Given the description of an element on the screen output the (x, y) to click on. 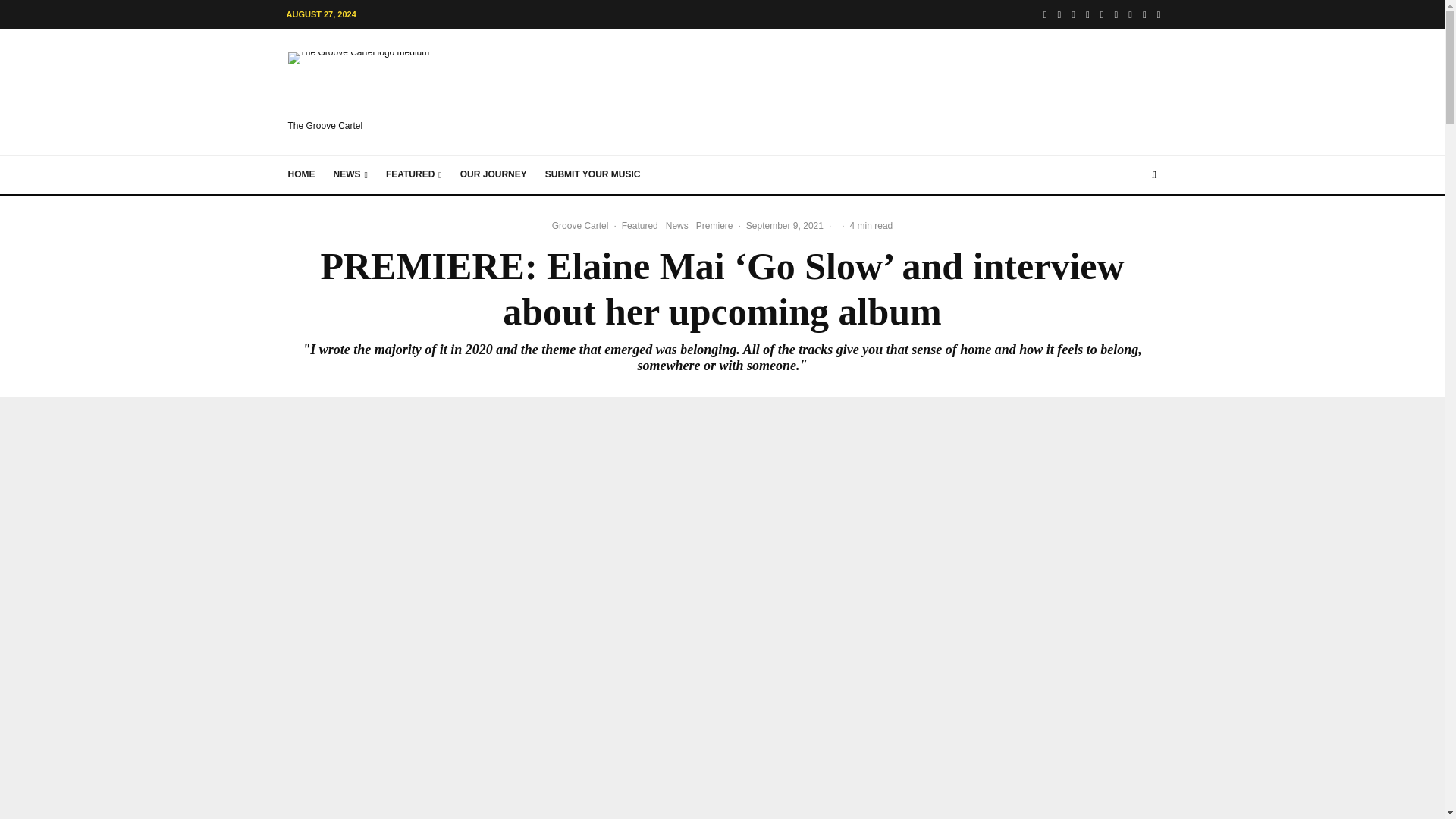
HOME (301, 175)
The Groove Cartel (371, 91)
OUR JOURNEY (493, 175)
NEWS (350, 175)
FEATURED (414, 175)
